Given the description of an element on the screen output the (x, y) to click on. 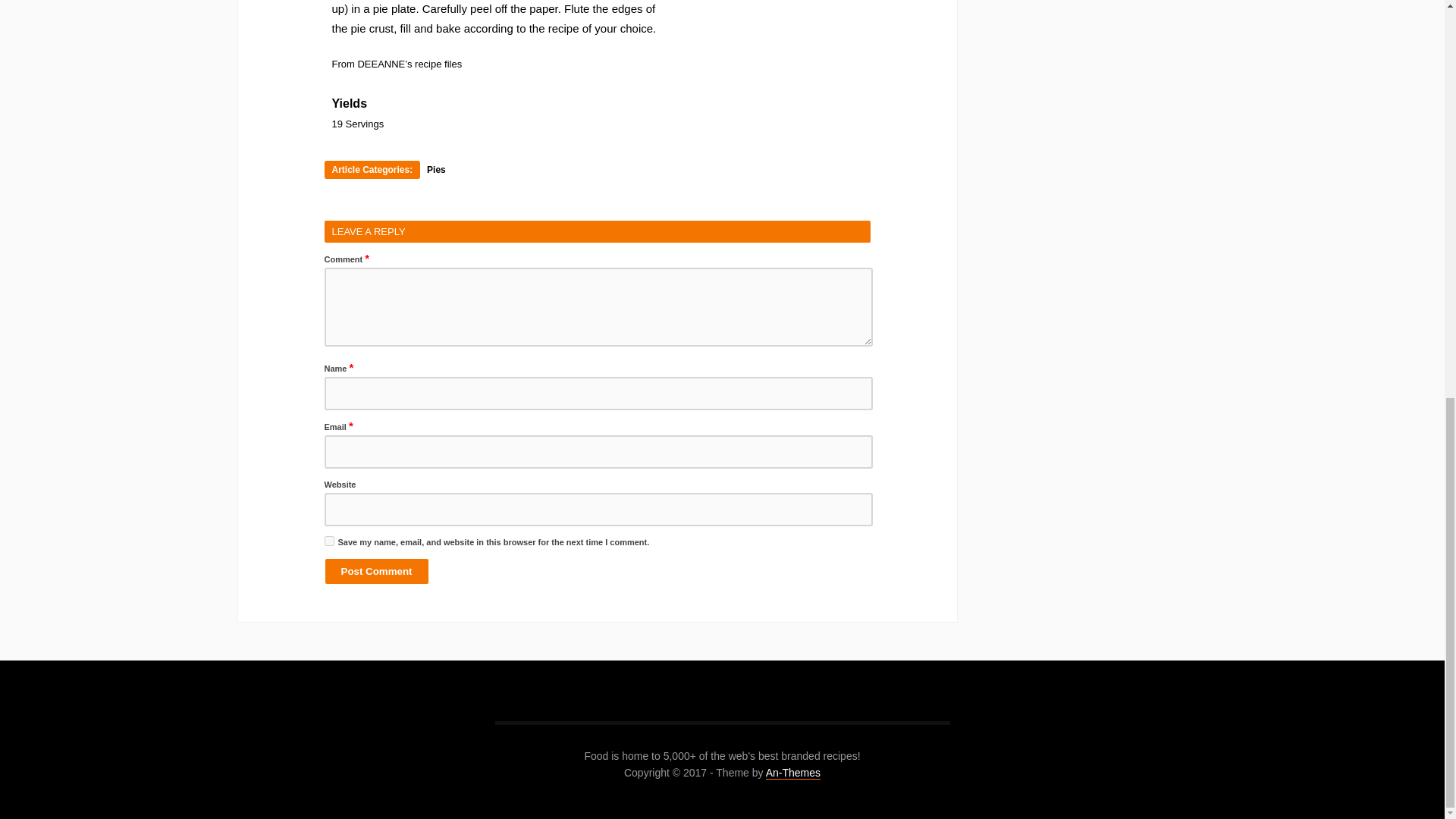
yes (329, 541)
Post Comment (376, 570)
An-Themes (793, 772)
Pies (435, 169)
Post Comment (376, 570)
